Given the description of an element on the screen output the (x, y) to click on. 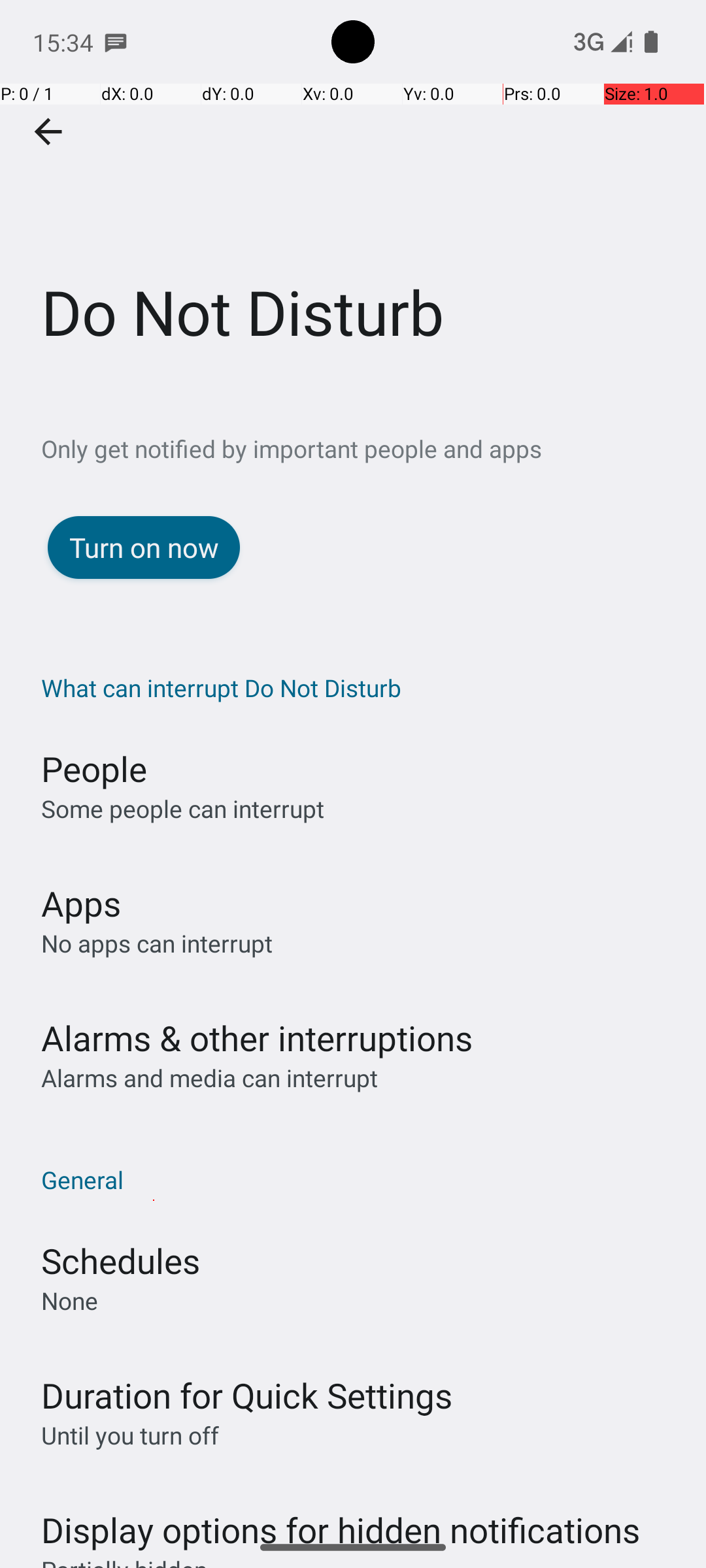
Do Not Disturb Element type: android.widget.FrameLayout (353, 195)
Only get notified by important people and apps Element type: android.widget.TextView (373, 448)
Turn on now Element type: android.widget.Button (143, 547)
What can interrupt Do Not Disturb Element type: android.widget.TextView (359, 687)
People Element type: android.widget.TextView (94, 768)
Some people can interrupt Element type: android.widget.TextView (182, 808)
No apps can interrupt Element type: android.widget.TextView (156, 942)
Alarms & other interruptions Element type: android.widget.TextView (256, 1037)
Alarms and media can interrupt Element type: android.widget.TextView (209, 1077)
Schedules Element type: android.widget.TextView (120, 1260)
Duration for Quick Settings Element type: android.widget.TextView (246, 1395)
Until you turn off Element type: android.widget.TextView (129, 1434)
Display options for hidden notifications Element type: android.widget.TextView (340, 1516)
